Given the description of an element on the screen output the (x, y) to click on. 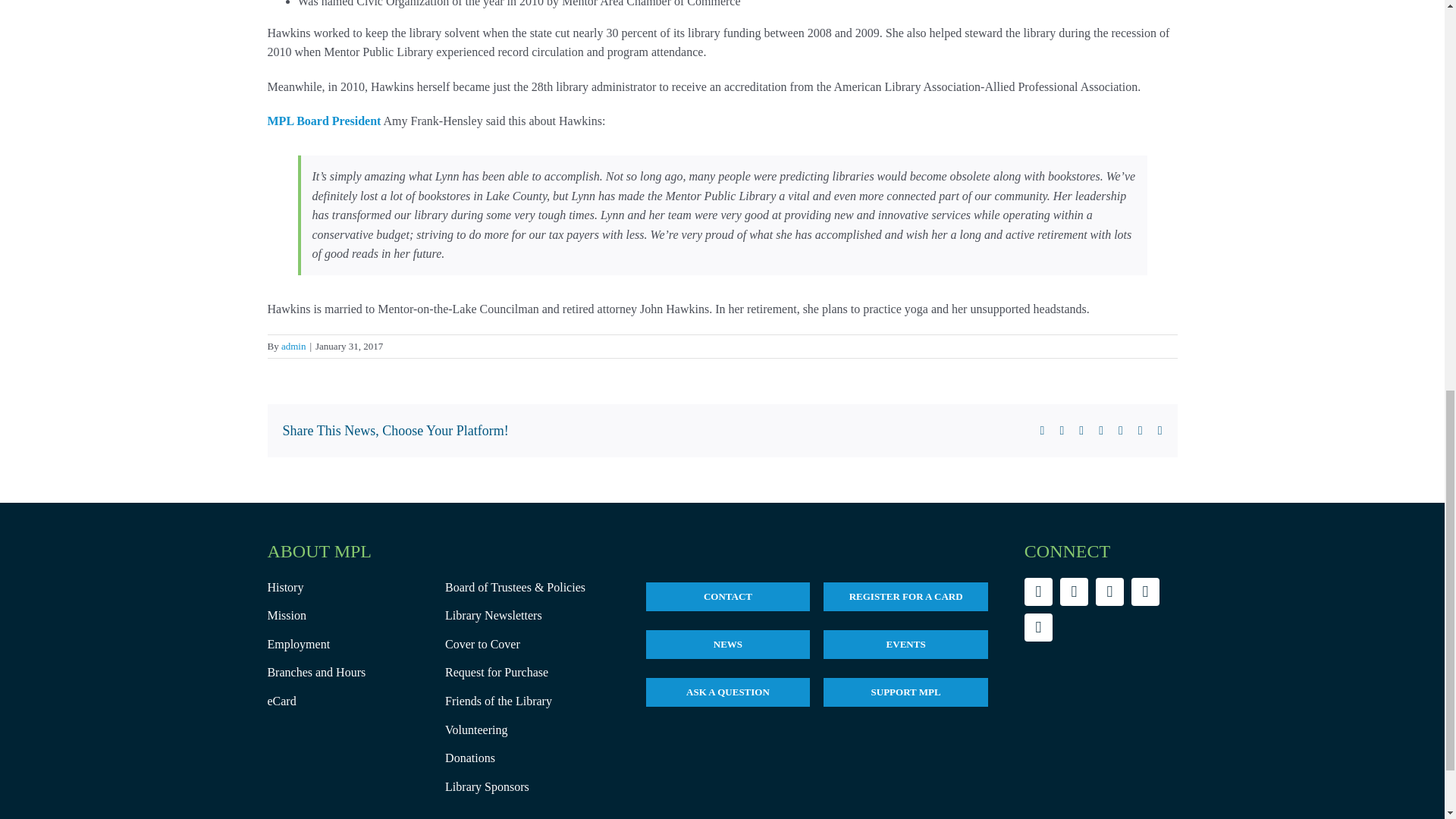
Posts by admin (293, 346)
